Given the description of an element on the screen output the (x, y) to click on. 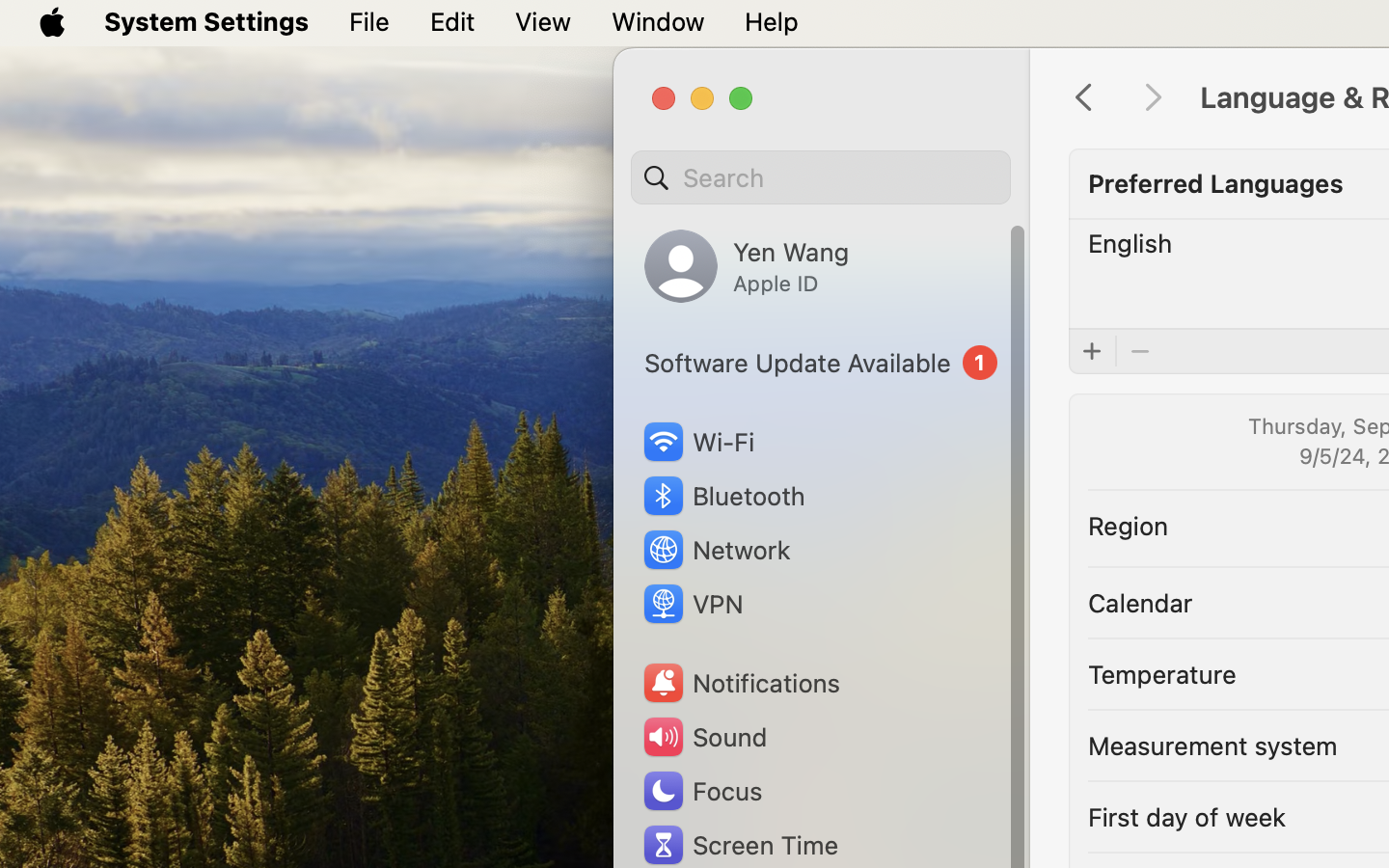
Sound Element type: AXStaticText (703, 736)
VPN Element type: AXStaticText (691, 603)
First day of week Element type: AXStaticText (1187, 815)
Wi‑Fi Element type: AXStaticText (697, 441)
Focus Element type: AXStaticText (701, 790)
